Given the description of an element on the screen output the (x, y) to click on. 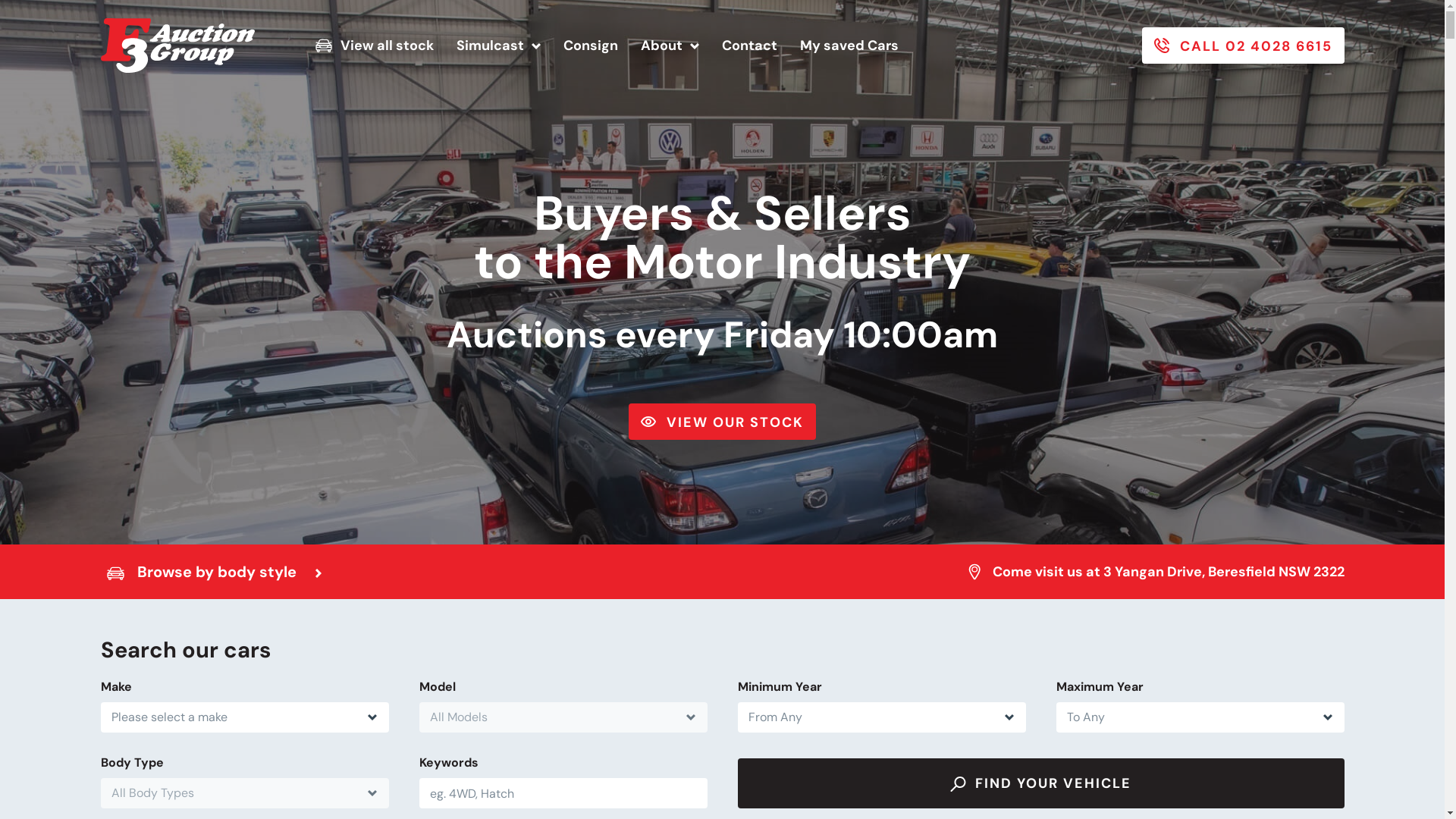
About Element type: text (669, 45)
My saved Cars Element type: text (849, 45)
View all stock Element type: text (374, 45)
FIND YOUR VEHICLE Element type: text (1040, 783)
Consign Element type: text (590, 45)
Contact Element type: text (749, 45)
VIEW OUR STOCK Element type: text (721, 421)
Browse by body style Element type: text (213, 571)
CALL 02 4028 6615 Element type: text (1243, 45)
Simulcast Element type: text (498, 45)
